Given the description of an element on the screen output the (x, y) to click on. 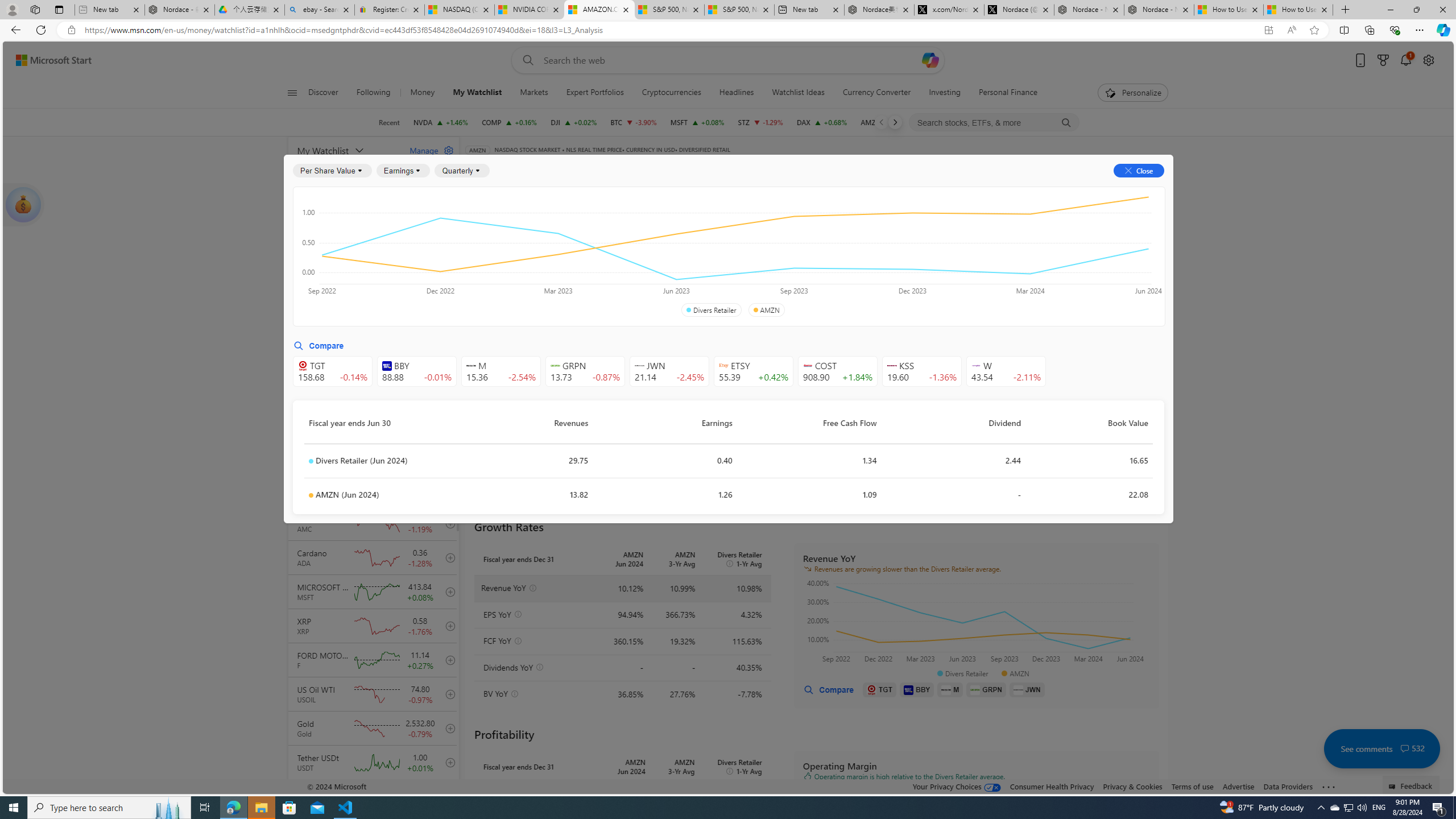
M (950, 689)
Next (895, 122)
Summary (789, 188)
App bar (728, 29)
NVDA NVIDIA CORPORATION increase 128.30 +1.84 +1.46% (441, 122)
GRPN (986, 689)
Investing (944, 92)
Profitability (662, 253)
Open settings (1427, 60)
remove from your watchlist (447, 283)
Open navigation menu (292, 92)
TGT (879, 689)
